Given the description of an element on the screen output the (x, y) to click on. 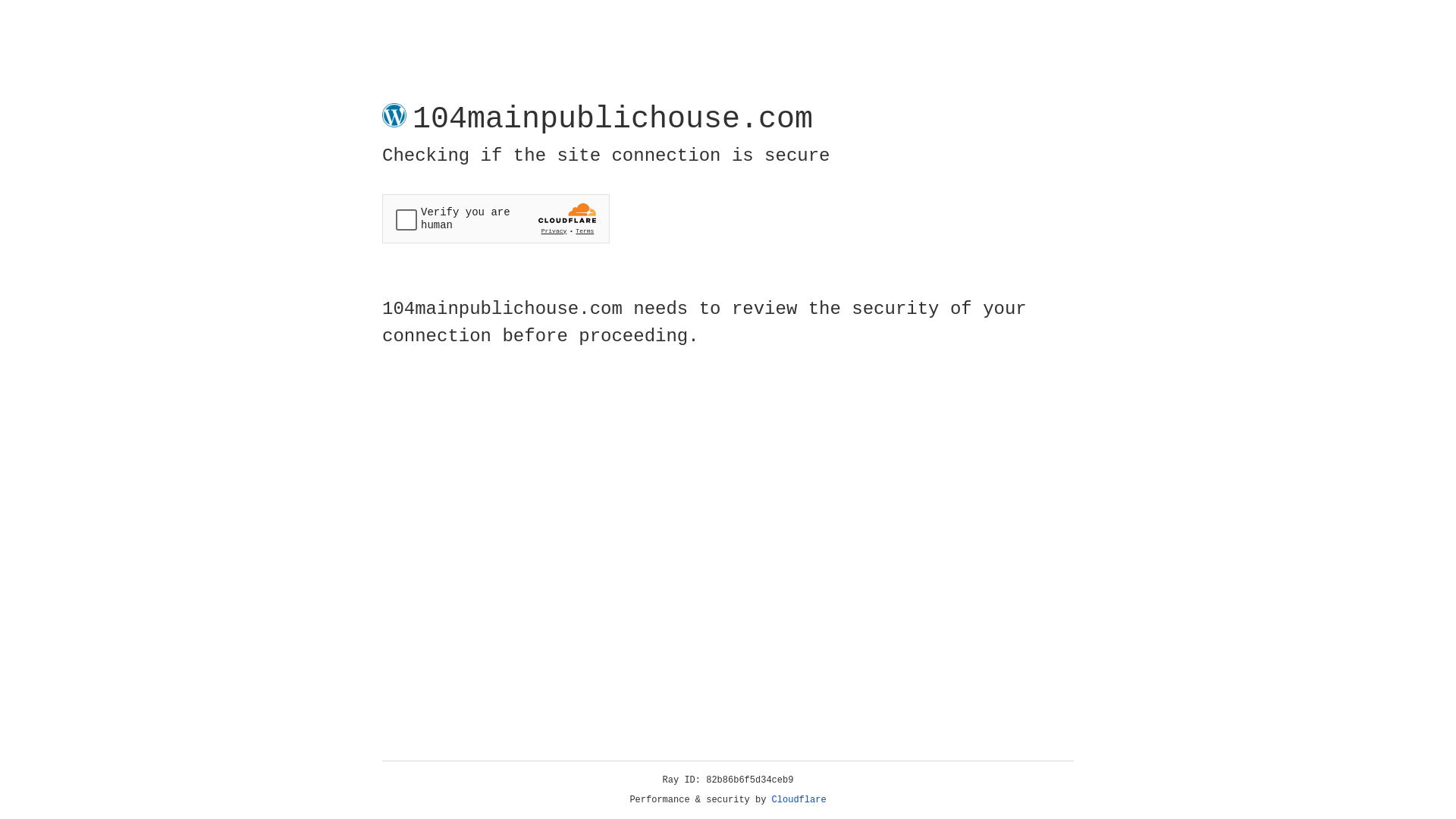
Cloudflare Element type: text (798, 799)
Widget containing a Cloudflare security challenge Element type: hover (495, 218)
